Given the description of an element on the screen output the (x, y) to click on. 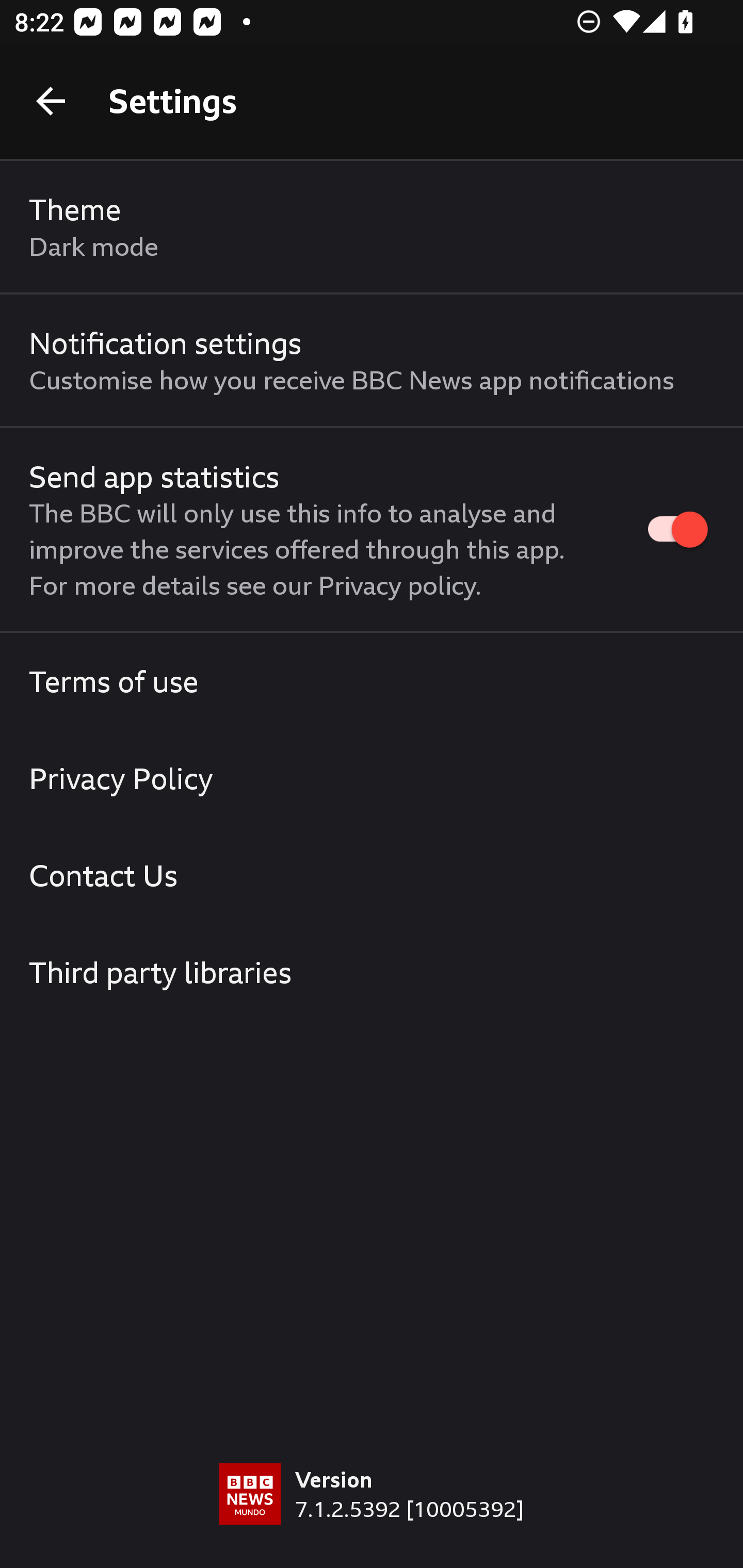
Back (50, 101)
Theme Dark mode (371, 227)
Terms of use (371, 681)
Privacy Policy (371, 777)
Contact Us (371, 874)
Third party libraries (371, 971)
Version 7.1.2.5392 [10005392] (371, 1515)
